Given the description of an element on the screen output the (x, y) to click on. 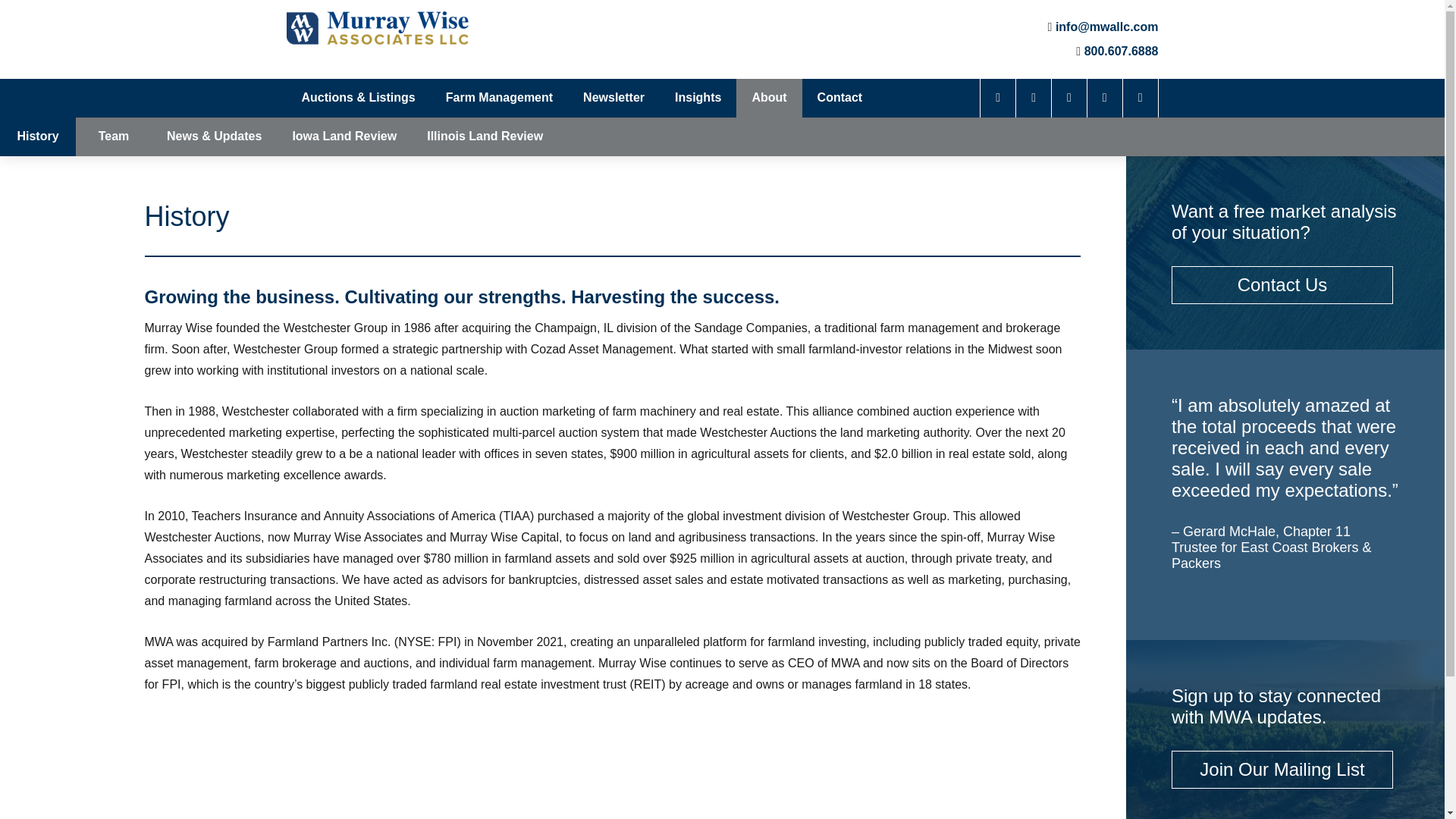
Iowa Land Review (344, 136)
Contact Us (1282, 284)
800.607.6888 (1121, 51)
Newsletter (613, 97)
visit the home page (377, 28)
Contact (839, 97)
About (769, 97)
Illinois Land Review (484, 136)
Farm Management (498, 97)
History (37, 136)
Insights (697, 97)
Team (113, 136)
Join Our Mailing List (1281, 769)
